Given the description of an element on the screen output the (x, y) to click on. 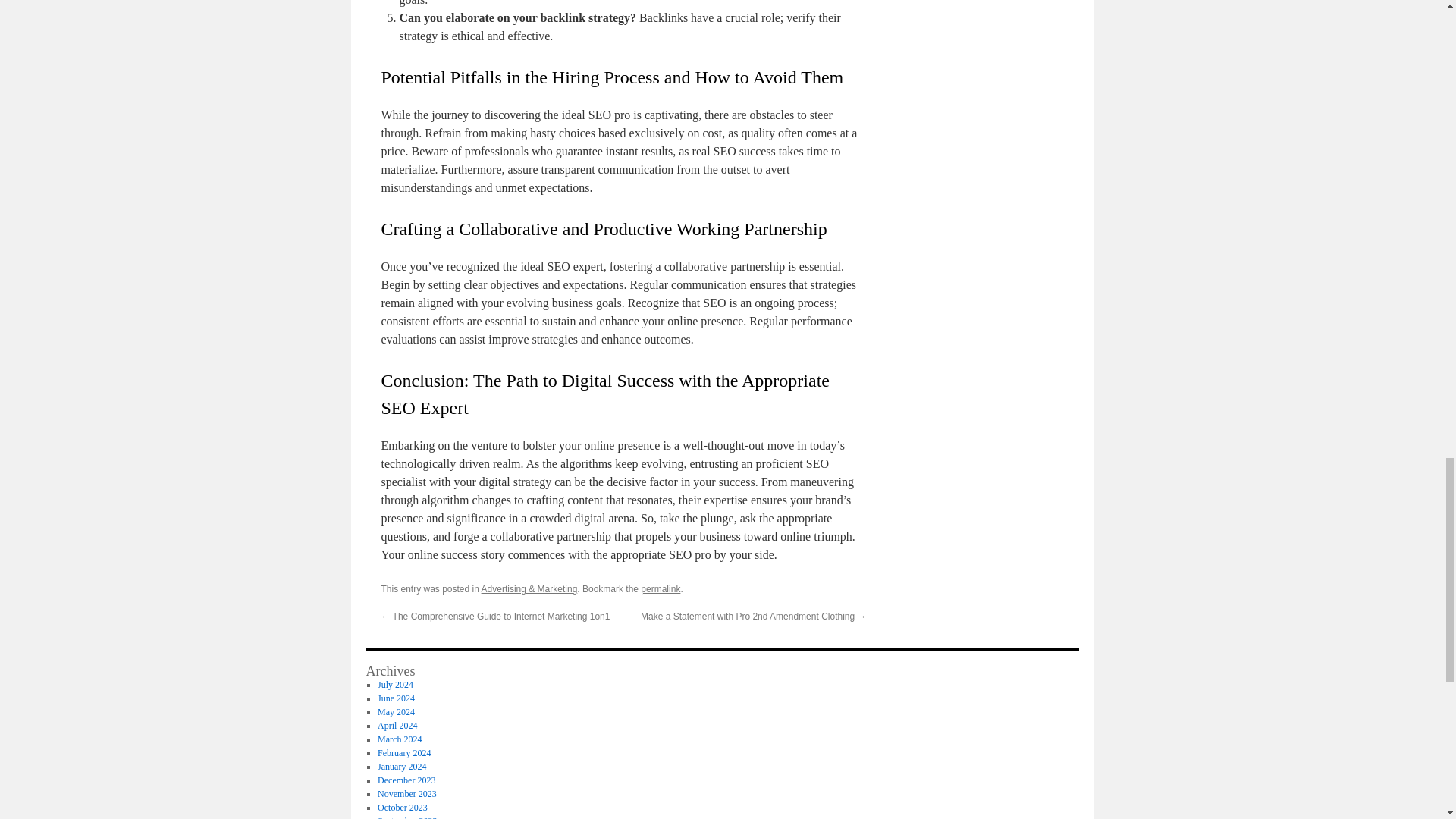
April 2024 (396, 725)
December 2023 (406, 779)
June 2024 (395, 697)
July 2024 (395, 684)
January 2024 (401, 766)
permalink (659, 588)
October 2023 (402, 807)
November 2023 (406, 793)
March 2024 (399, 738)
May 2024 (395, 711)
September 2023 (406, 817)
February 2024 (403, 752)
